Given the description of an element on the screen output the (x, y) to click on. 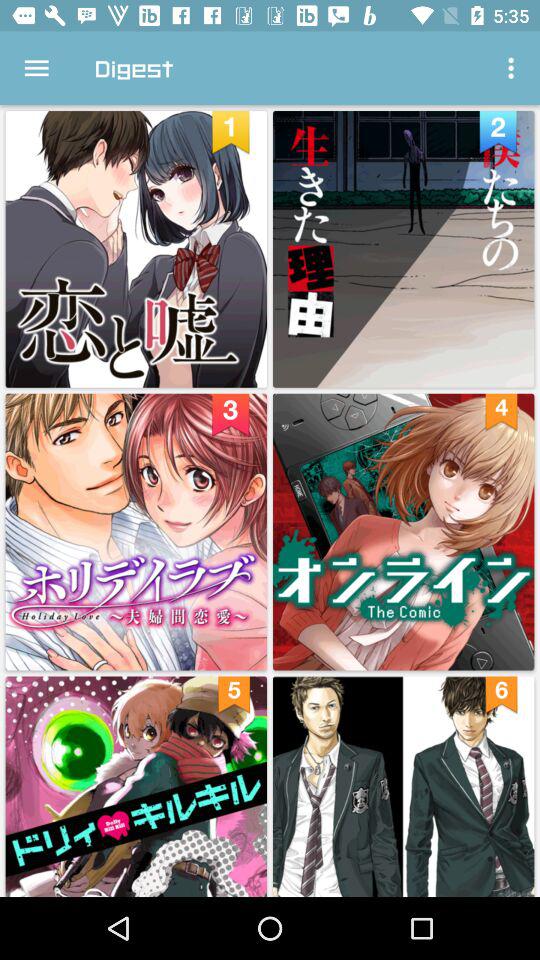
turn on the icon next to digest (36, 68)
